Given the description of an element on the screen output the (x, y) to click on. 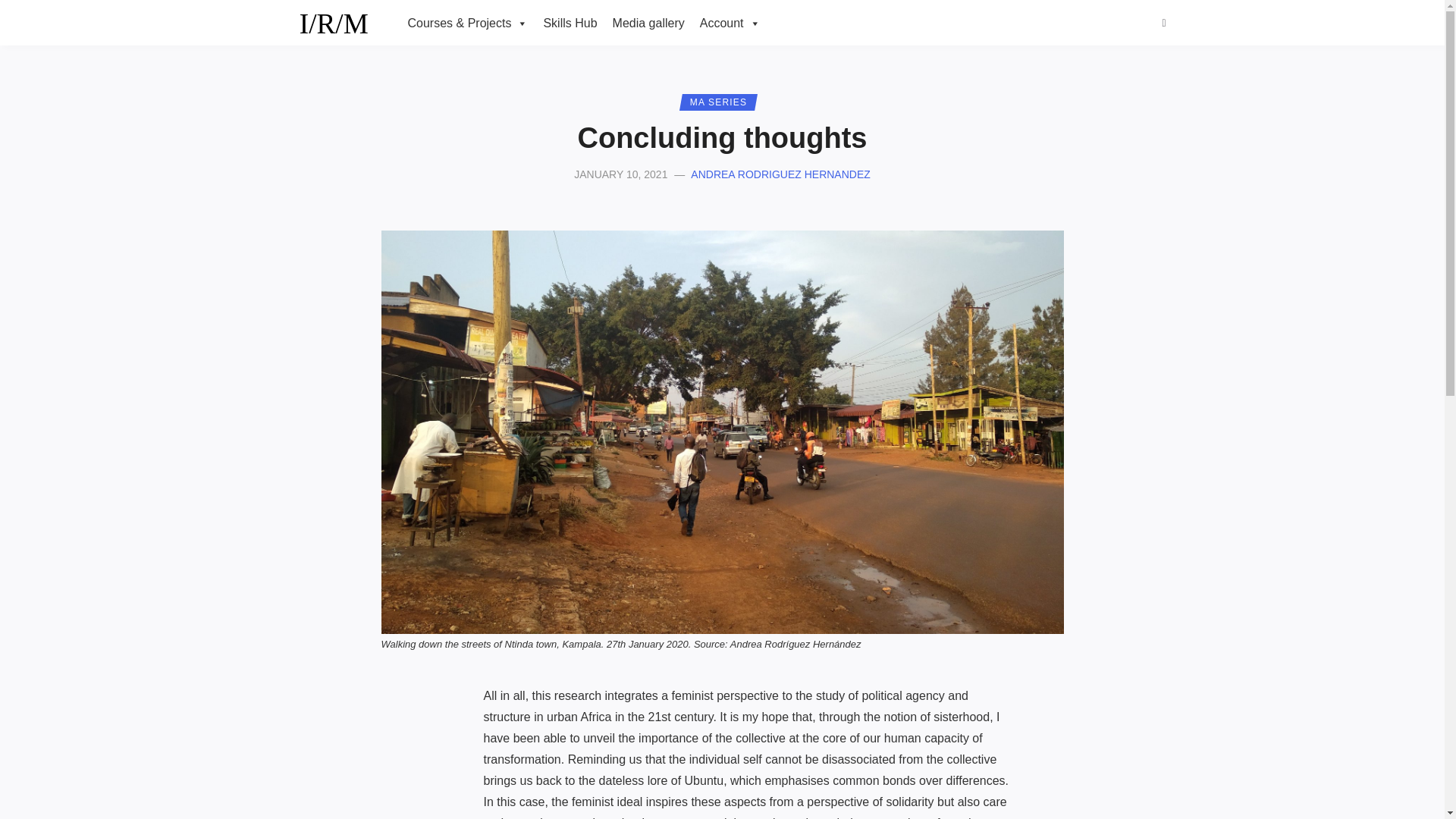
Media gallery (649, 23)
Skills Hub (569, 23)
Account (730, 23)
